Given the description of an element on the screen output the (x, y) to click on. 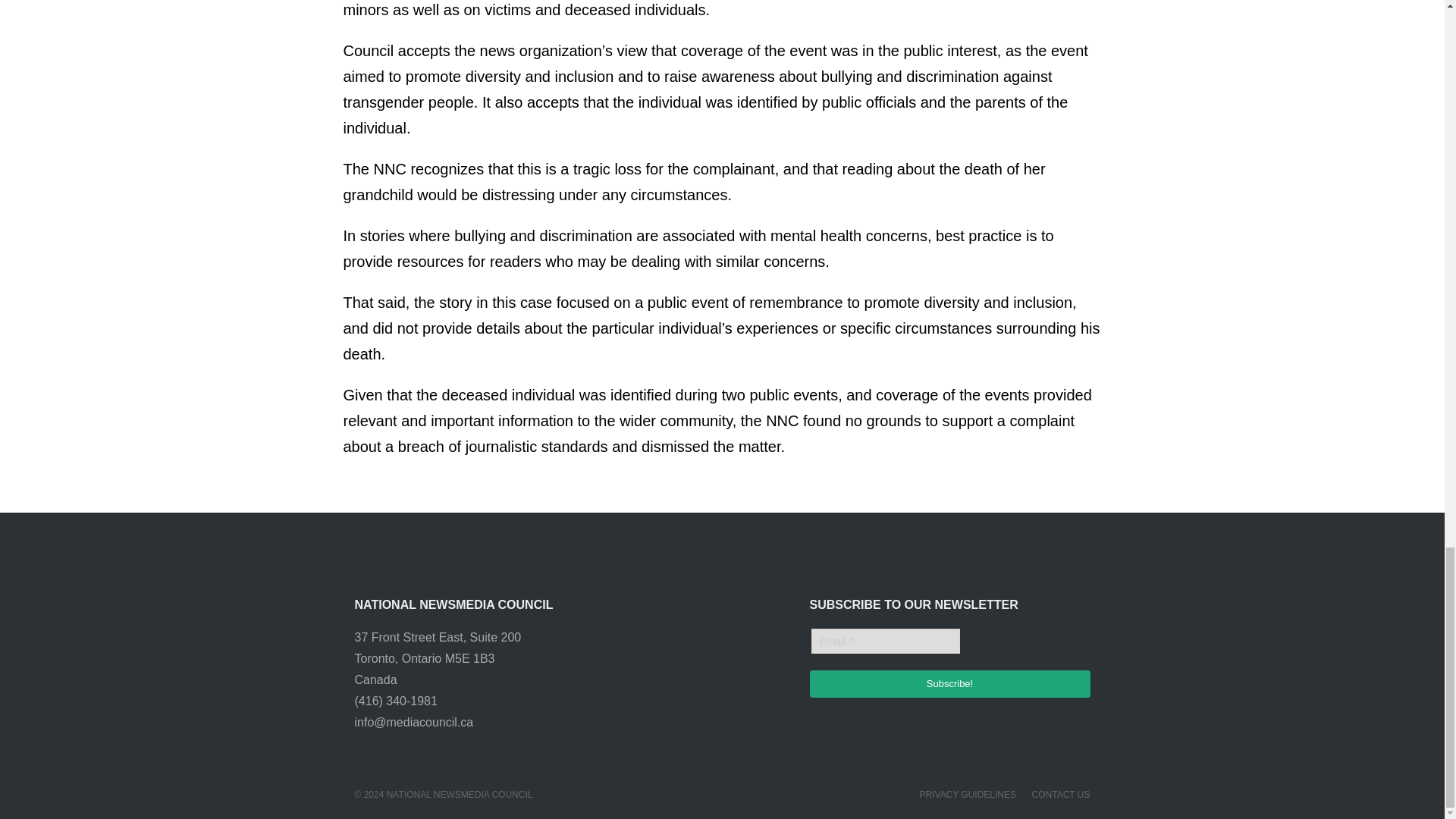
Subscribe! (949, 683)
PRIVACY GUIDELINES (967, 794)
Subscribe! (949, 683)
CONTACT US (1061, 794)
Email (884, 641)
